Given the description of an element on the screen output the (x, y) to click on. 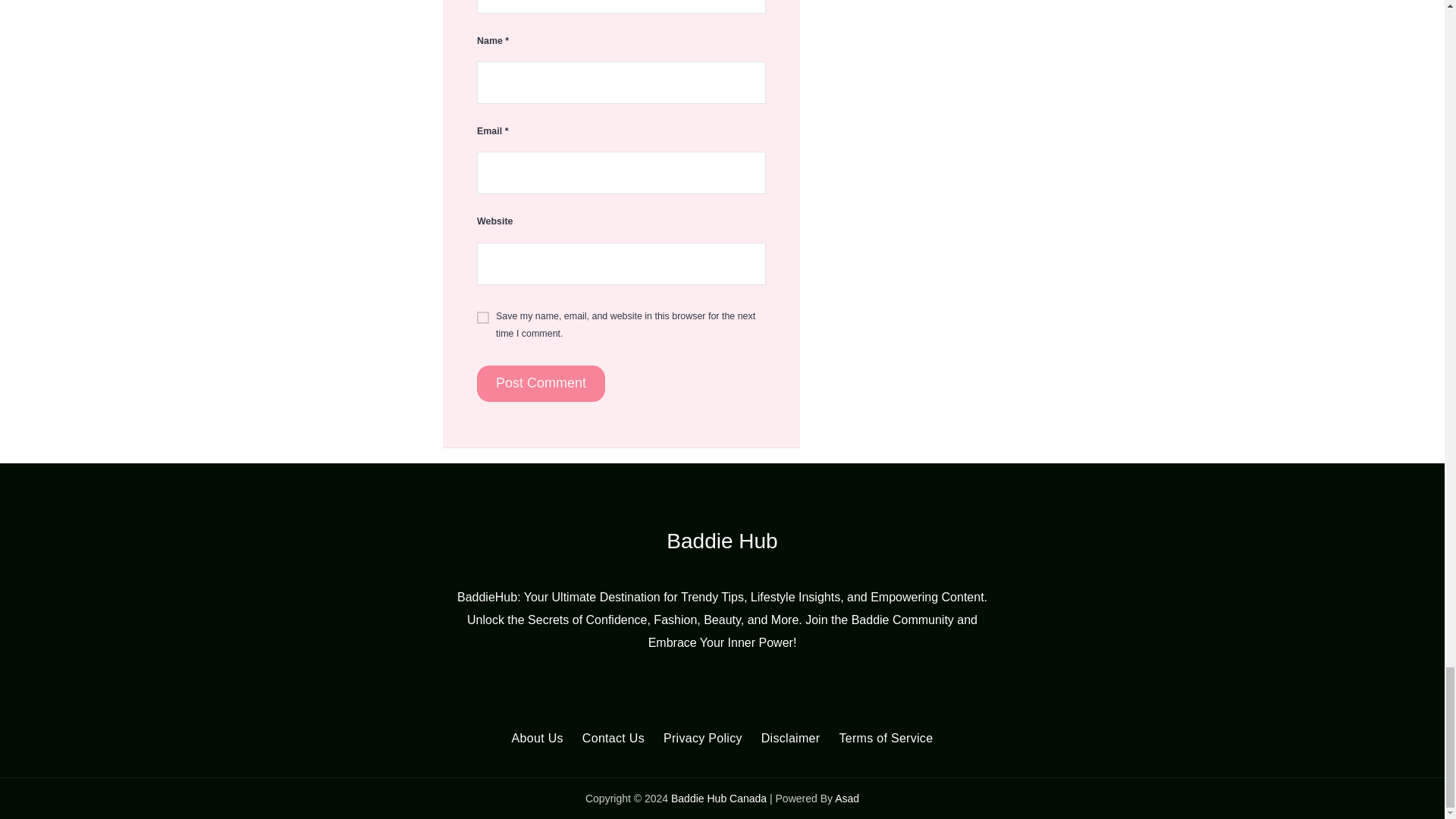
Post Comment (541, 383)
